Given the description of an element on the screen output the (x, y) to click on. 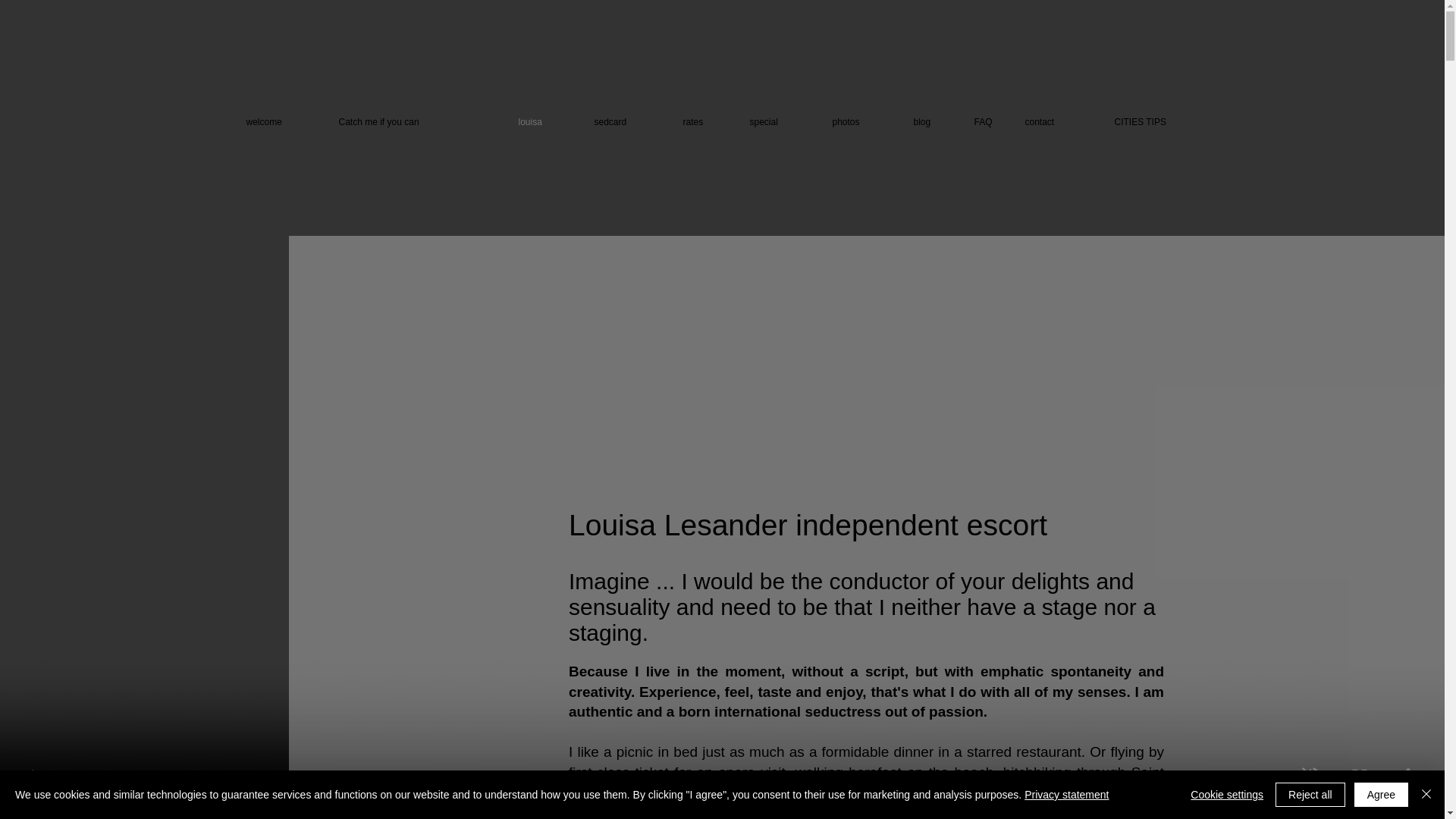
sedcard (626, 122)
FAQ (987, 122)
photos (861, 122)
special (779, 122)
contact (1057, 122)
louisa (544, 122)
Privacy statement (1066, 794)
rates (704, 122)
Catch me if you can (416, 122)
Agree (1380, 794)
